Given the description of an element on the screen output the (x, y) to click on. 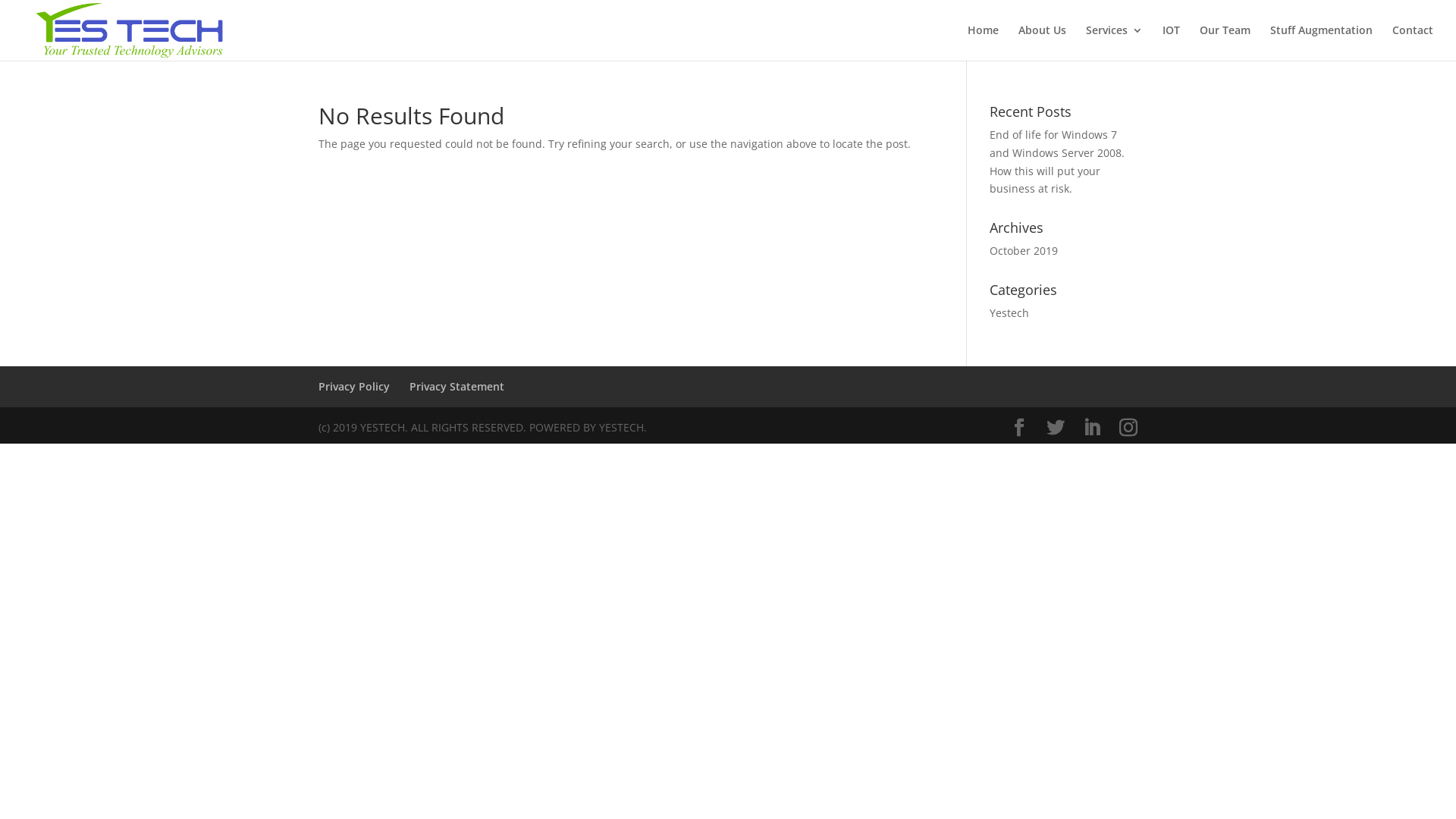
Services Element type: text (1113, 42)
IOT Element type: text (1170, 42)
About Us Element type: text (1042, 42)
October 2019 Element type: text (1023, 250)
Contact Element type: text (1412, 42)
Privacy Statement Element type: text (456, 386)
Yestech Element type: text (1009, 312)
Privacy Policy Element type: text (353, 386)
Home Element type: text (982, 42)
Our Team Element type: text (1224, 42)
Stuff Augmentation Element type: text (1321, 42)
